Given the description of an element on the screen output the (x, y) to click on. 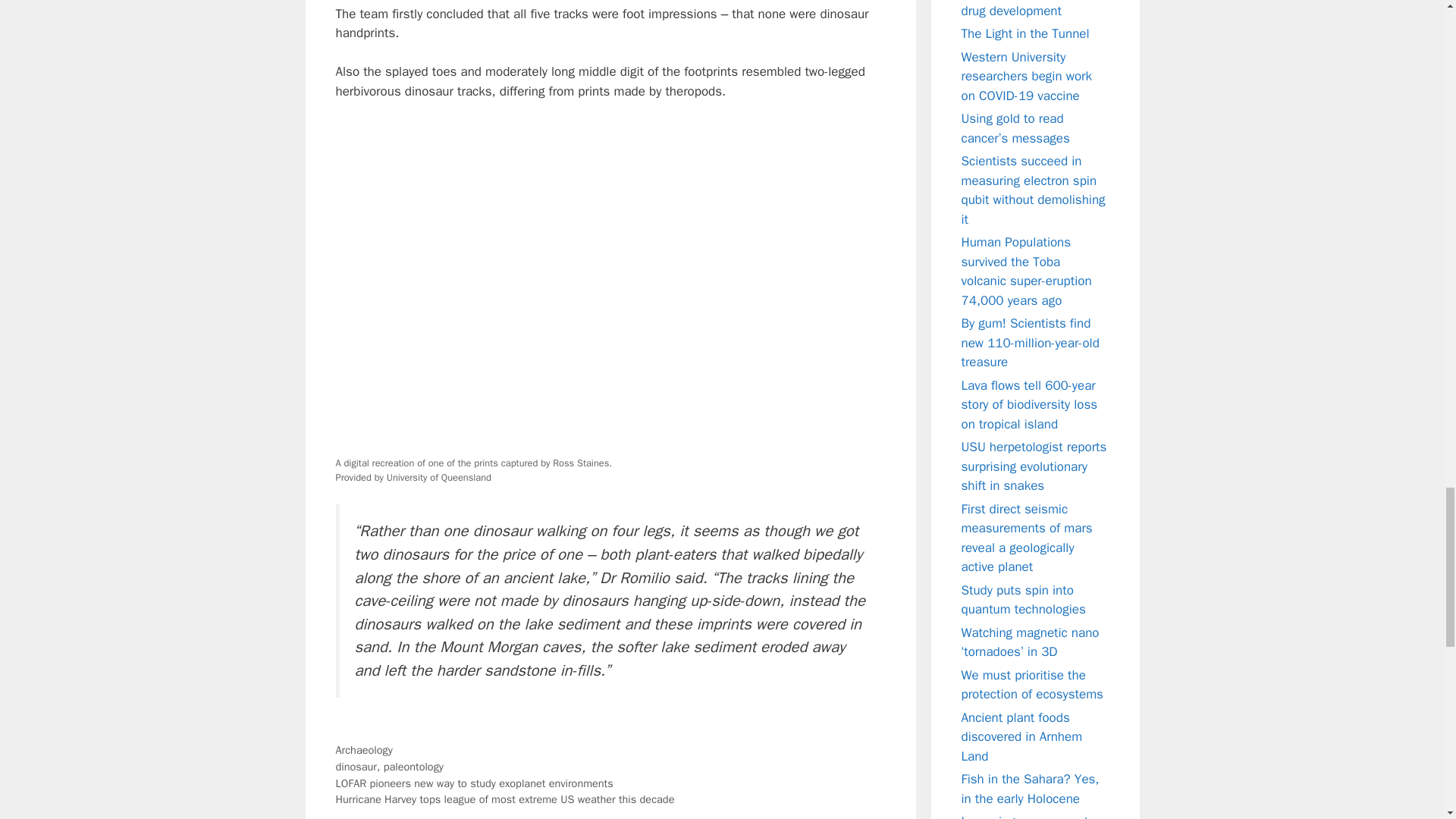
LOFAR pioneers new way to study exoplanet environments (473, 783)
dinosaur (354, 766)
paleontology (414, 766)
Archaeology (362, 749)
